Given the description of an element on the screen output the (x, y) to click on. 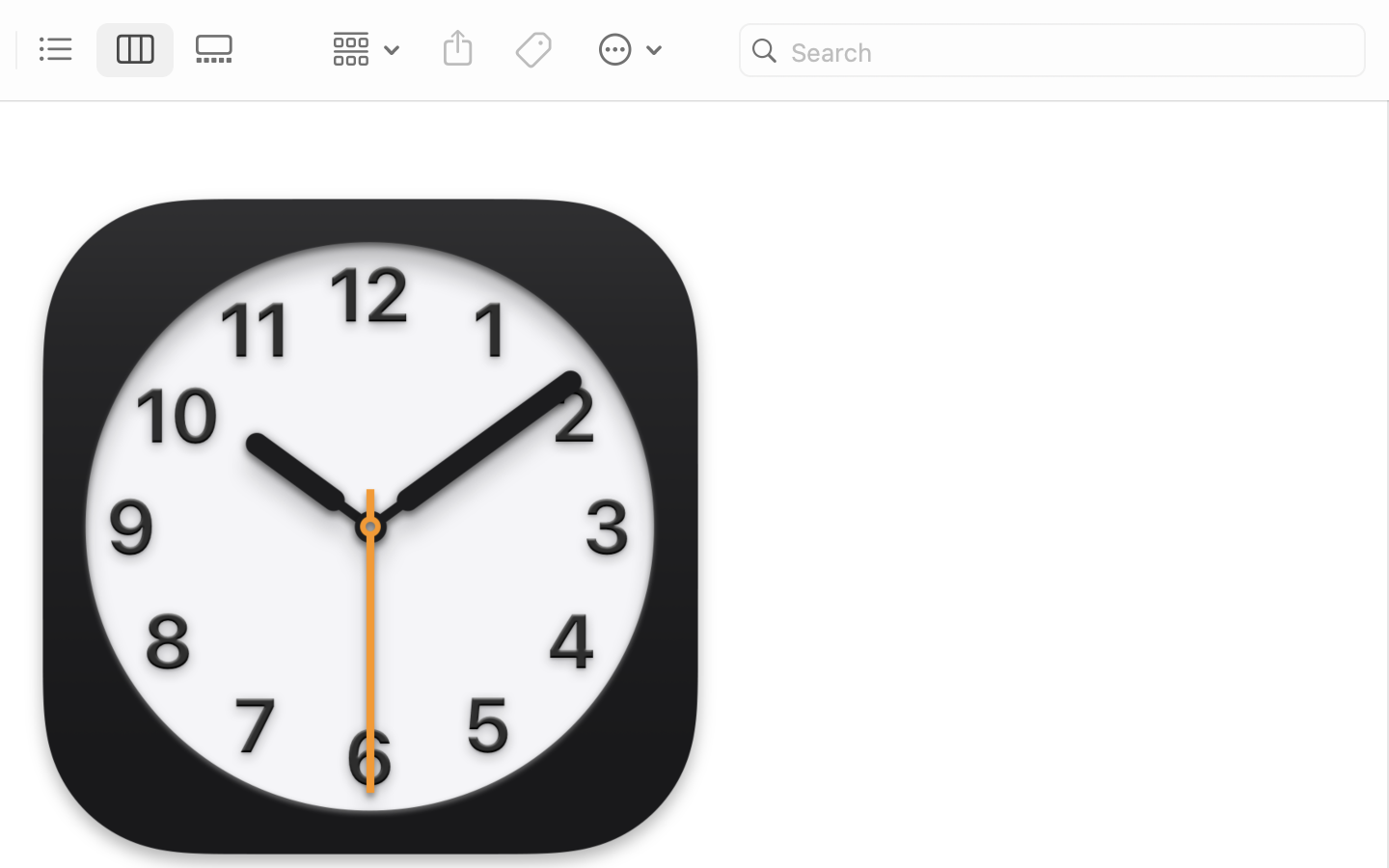
0 Element type: AXRadioButton (219, 49)
1 Element type: AXRadioButton (135, 49)
